Given the description of an element on the screen output the (x, y) to click on. 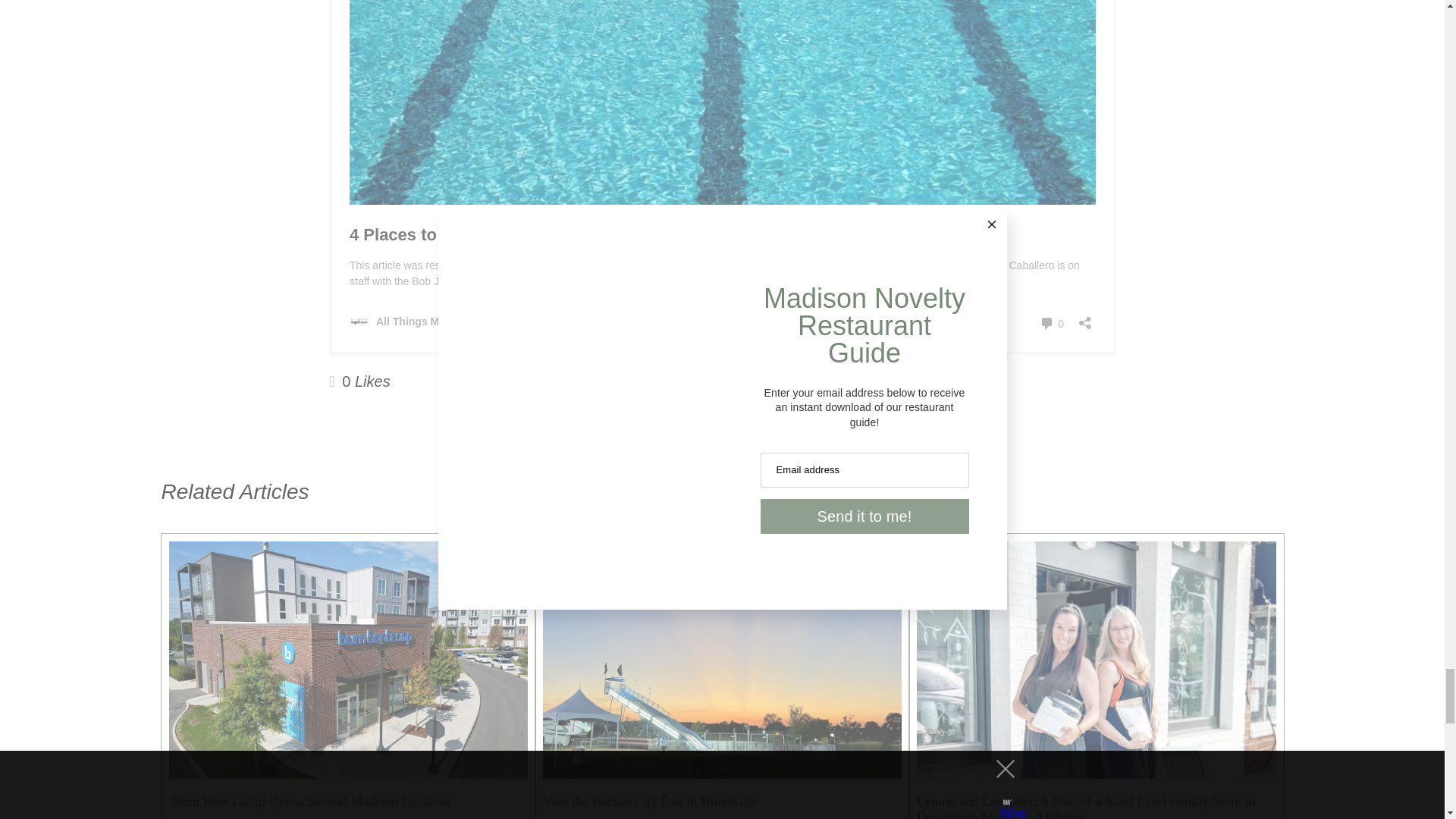
Visit the Rocket City Fair in Huntsville (650, 801)
Screen Shot 2024-07-17 at 2.52.52 PM (719, 638)
 Burn Boot Camp Opens Second Madison Location (308, 801)
default (344, 657)
